Given the description of an element on the screen output the (x, y) to click on. 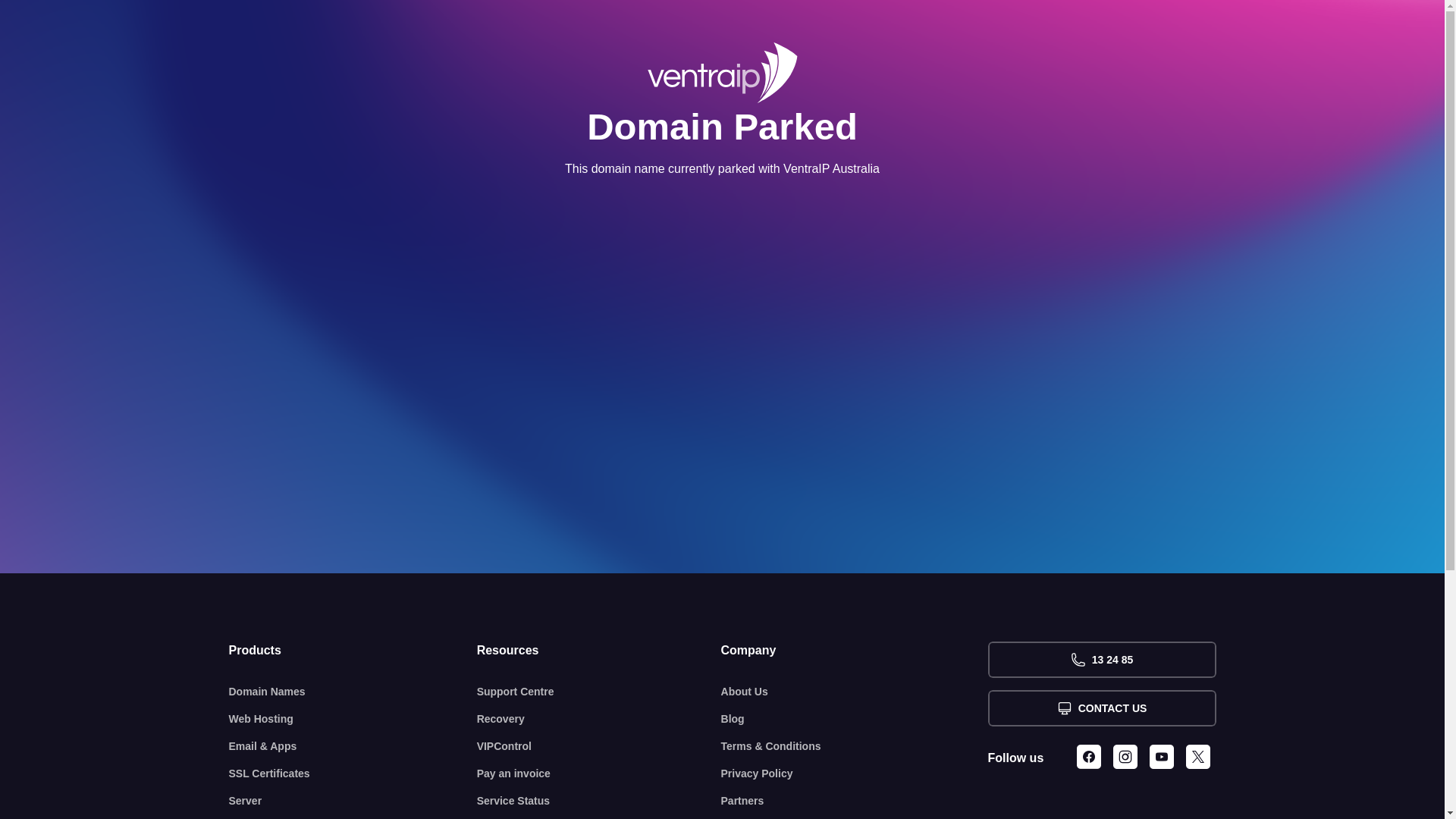
Recovery Element type: text (598, 718)
Web Hosting Element type: text (352, 718)
Email & Apps Element type: text (352, 745)
About Us Element type: text (854, 691)
Pay an invoice Element type: text (598, 773)
Blog Element type: text (854, 718)
Privacy Policy Element type: text (854, 773)
SSL Certificates Element type: text (352, 773)
Support Centre Element type: text (598, 691)
Terms & Conditions Element type: text (854, 745)
VIPControl Element type: text (598, 745)
13 24 85 Element type: text (1101, 659)
CONTACT US Element type: text (1101, 708)
Domain Names Element type: text (352, 691)
Service Status Element type: text (598, 800)
Server Element type: text (352, 800)
Partners Element type: text (854, 800)
